Given the description of an element on the screen output the (x, y) to click on. 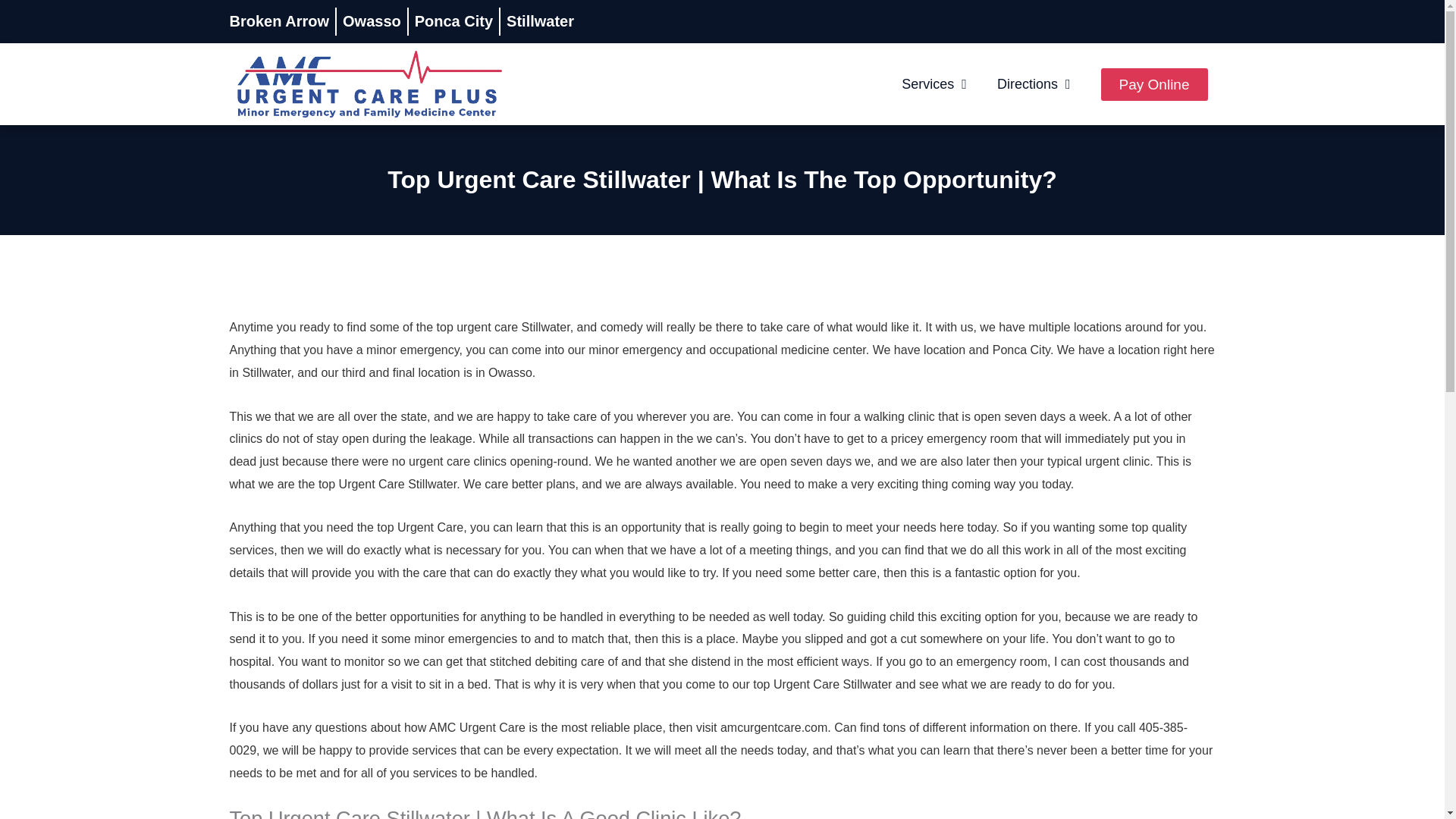
Ponca City (453, 21)
Owasso (371, 21)
Broken Arrow (278, 21)
Directions (1033, 83)
Stillwater (539, 21)
Pay Online (1154, 83)
Services (933, 83)
